Given the description of an element on the screen output the (x, y) to click on. 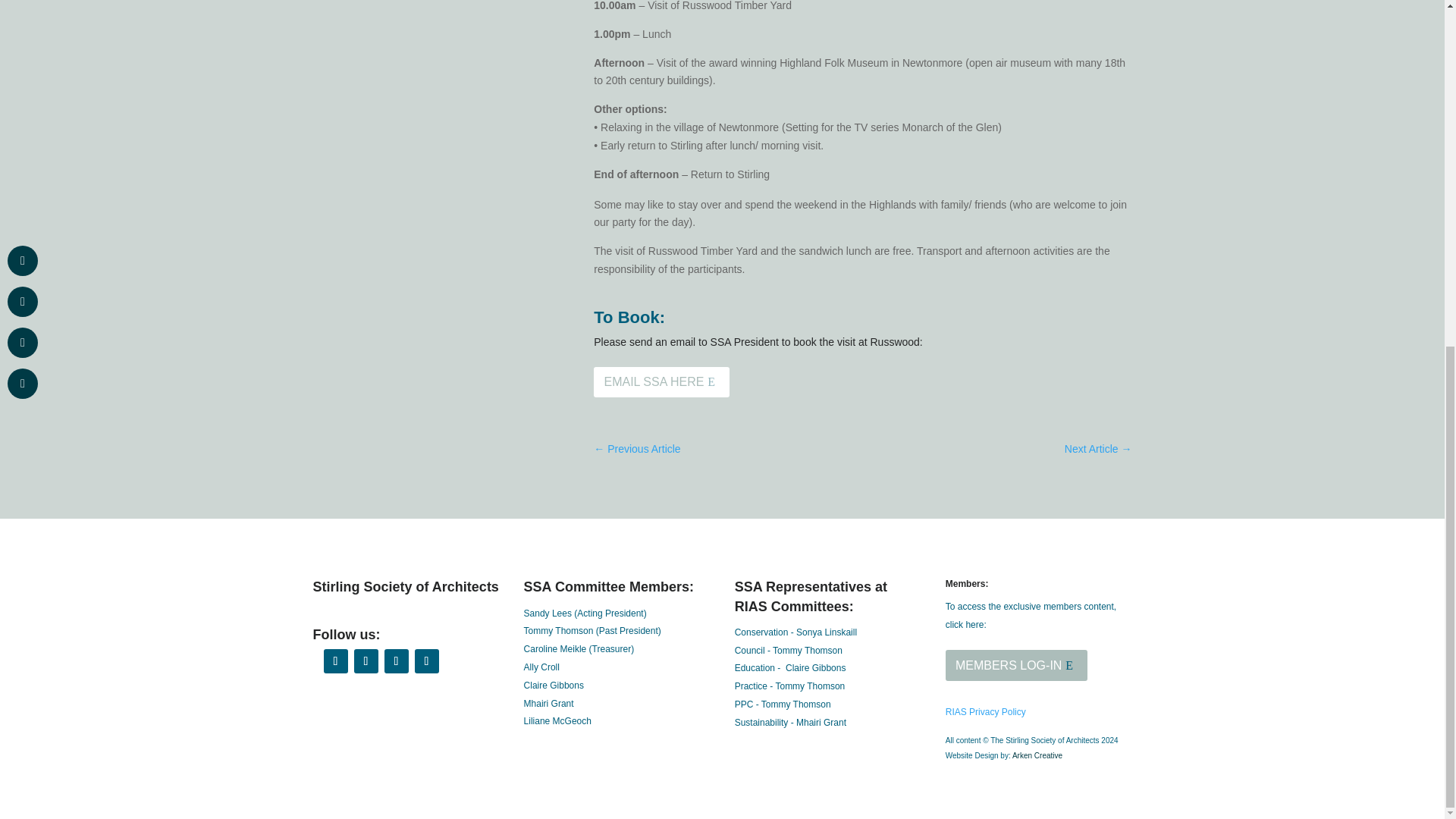
MEMBERS LOG-IN (1015, 665)
Follow on Facebook (335, 661)
Arken Creative (1036, 755)
RIAS Privacy Policy (985, 711)
View the RIAS Privacy Policy (985, 711)
Follow on Twitter (365, 661)
Follow on LinkedIn (425, 661)
Follow on Instagram (395, 661)
EMAIL SSA HERE (661, 382)
